Given the description of an element on the screen output the (x, y) to click on. 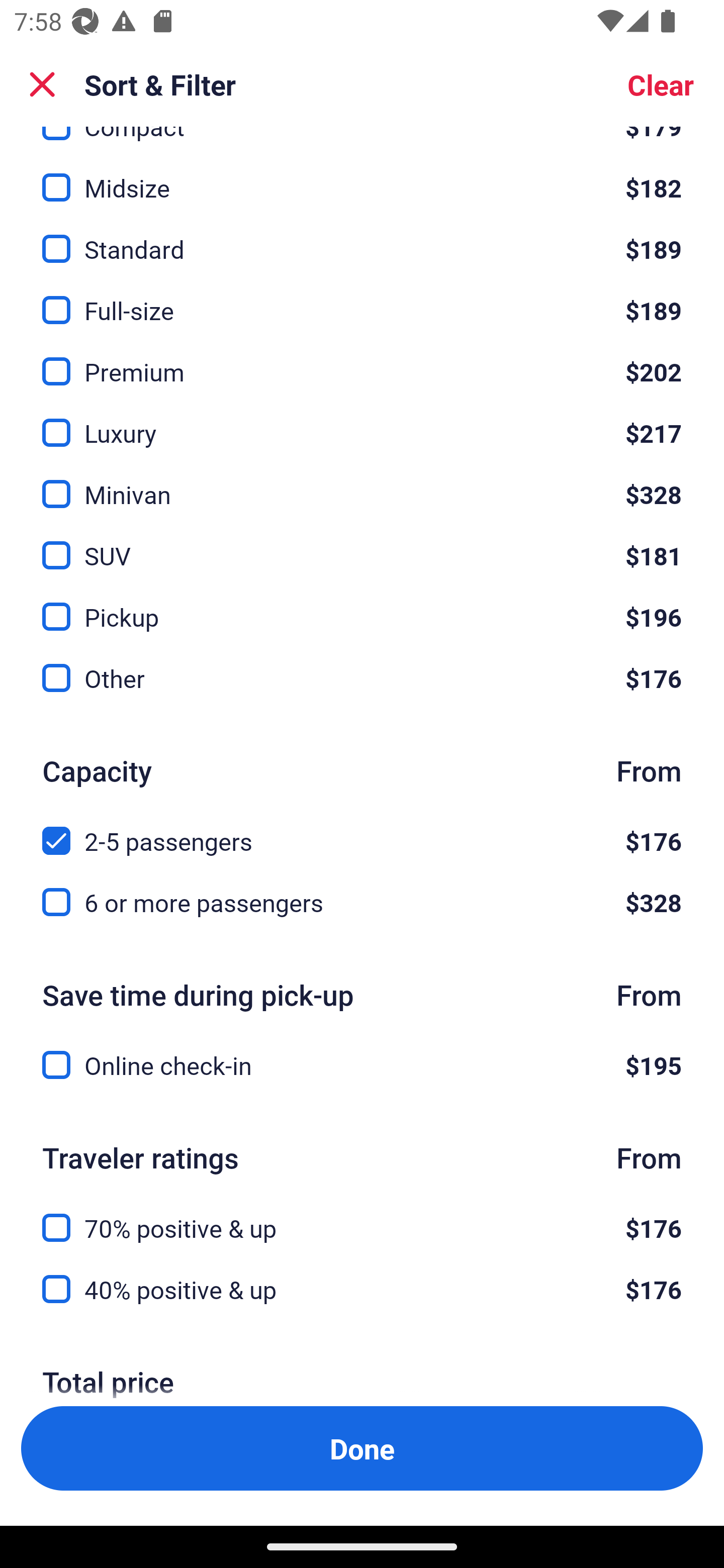
Close Sort and Filter (42, 84)
Clear (660, 84)
Midsize, $182 Midsize $182 (361, 175)
Standard, $189 Standard $189 (361, 237)
Full-size, $189 Full-size $189 (361, 298)
Premium, $202 Premium $202 (361, 359)
Luxury, $217 Luxury $217 (361, 420)
Minivan, $328 Minivan $328 (361, 482)
SUV, $181 SUV $181 (361, 544)
Pickup, $196 Pickup $196 (361, 605)
Other, $176 Other $176 (361, 678)
2-5 passengers, $176 2-5 passengers $176 (361, 829)
Online check-in, $195 Online check-in $195 (361, 1065)
70% positive & up, $176 70% positive & up $176 (361, 1216)
40% positive & up, $176 40% positive & up $176 (361, 1289)
Apply and close Sort and Filter Done (361, 1448)
